Given the description of an element on the screen output the (x, y) to click on. 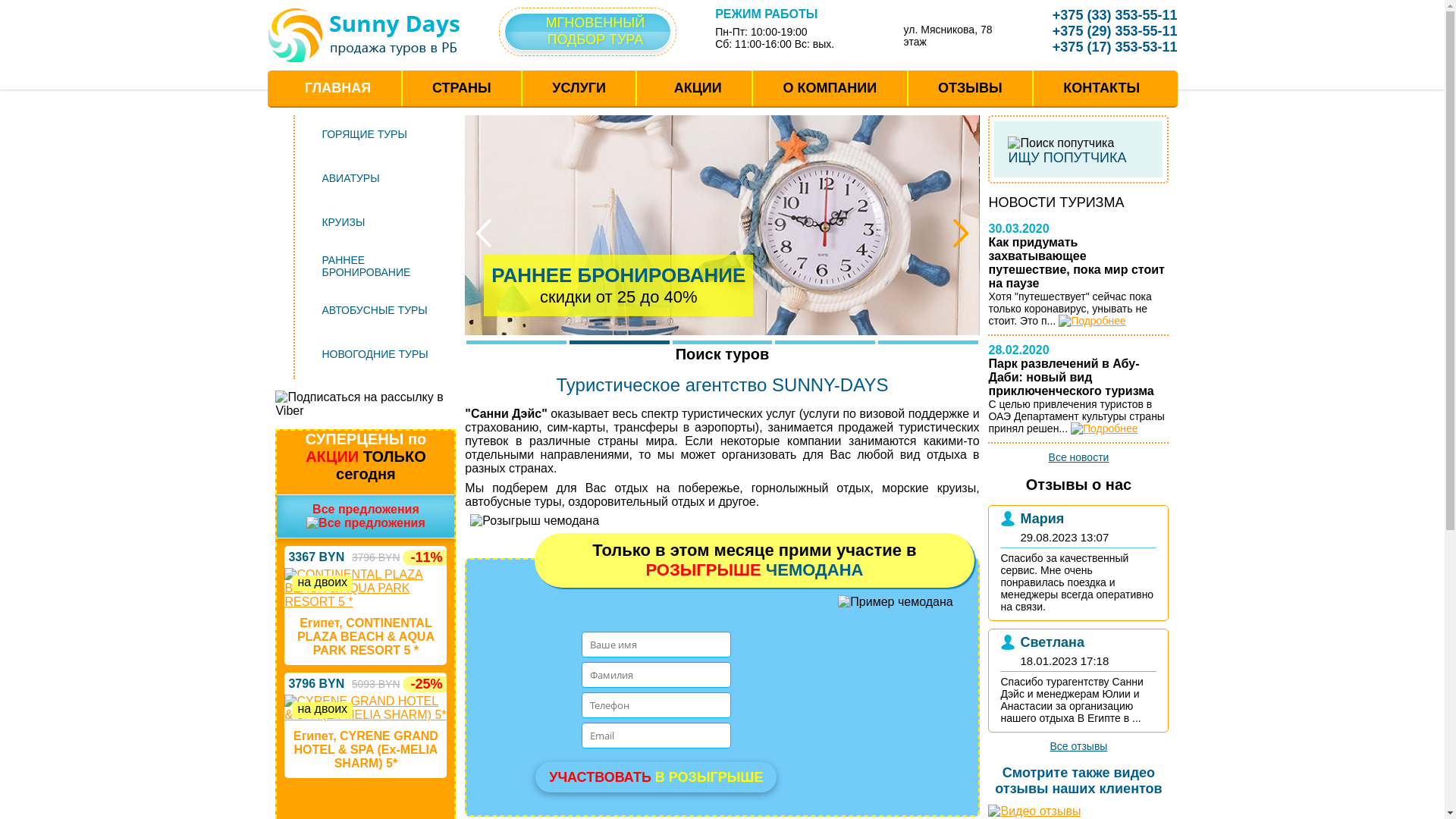
+375 (29) 353-55-11 Element type: text (1104, 30)
+375 (33) 353-55-11 Element type: text (1104, 14)
+375 (17) 353-53-11 Element type: text (1104, 46)
